Given the description of an element on the screen output the (x, y) to click on. 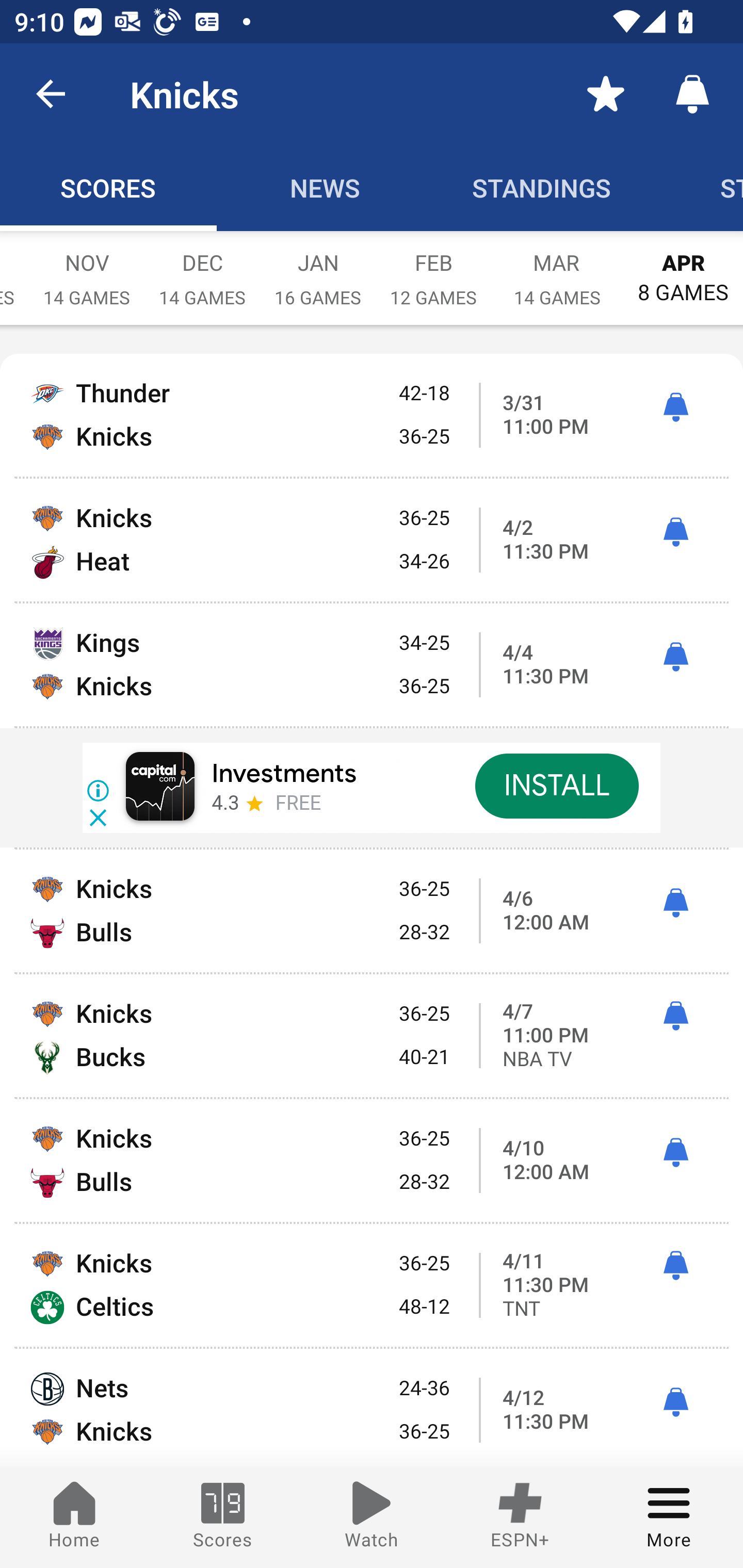
back.button (50, 93)
Favorite toggle (605, 93)
Alerts (692, 93)
News NEWS (324, 187)
Standings STANDINGS (541, 187)
NOV 14 GAMES (86, 268)
DEC 14 GAMES (202, 268)
JAN 16 GAMES (317, 268)
FEB 12 GAMES (433, 268)
MAR 14 GAMES (557, 268)
APR 8 GAMES (683, 268)
Thunder 42-18 Knicks 36-25 3/31 11:00 PM ì (371, 415)
ì (675, 407)
Knicks 36-25 Heat 34-26 4/2 11:30 PM ì (371, 540)
ì (675, 531)
Kings 34-25 Knicks 36-25 4/4 11:30 PM ì (371, 664)
ì (675, 657)
INSTALL (556, 786)
Investments (283, 774)
Knicks 36-25 Bulls 28-32 4/6 12:00 AM ì (371, 910)
ì (675, 903)
Knicks 36-25 Bucks 40-21 4/7 11:00 PM ì NBA TV (371, 1035)
ì (675, 1016)
Knicks 36-25 Bulls 28-32 4/10 12:00 AM ì (371, 1160)
ì (675, 1152)
Knicks 36-25 Celtics 48-12 4/11 11:30 PM ì TNT (371, 1285)
ì (675, 1265)
Nets 24-36 Knicks 36-25 4/12 11:30 PM ì (371, 1407)
ì (675, 1402)
Home (74, 1517)
Scores (222, 1517)
Watch (371, 1517)
ESPN+ (519, 1517)
